Given the description of an element on the screen output the (x, y) to click on. 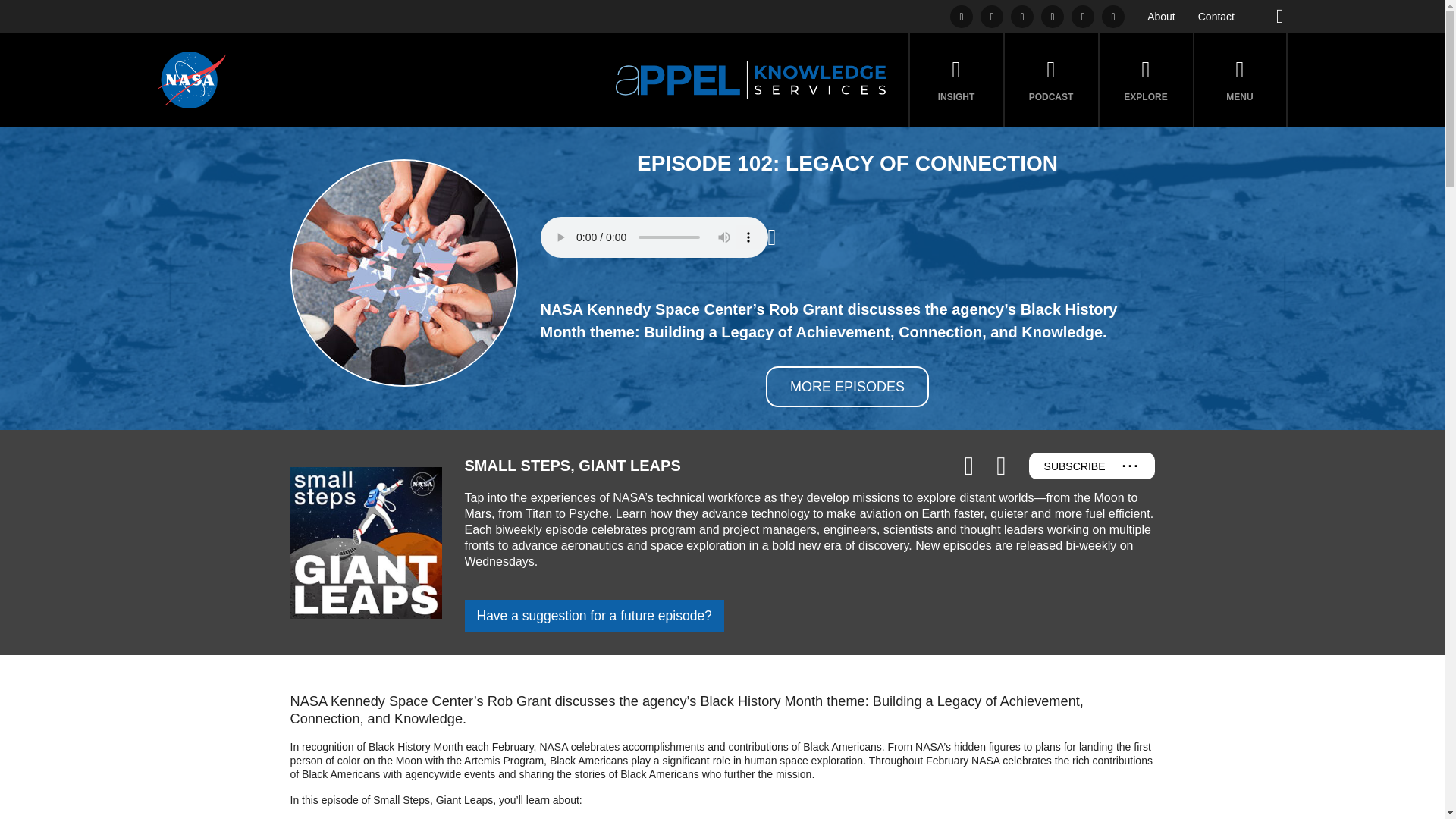
Interact with NASA APPEL on Twitter (991, 15)
PODCAST (1050, 79)
Interact with NASA APPEL on LinkedIn (961, 15)
View NASA APPEL Images on Flickr (1052, 15)
LinkedIn (961, 15)
About (1160, 16)
Flickr (1052, 15)
Twitter (991, 15)
Contact (1216, 16)
View NASA APPEL Videos on YouTube (1082, 15)
